Given the description of an element on the screen output the (x, y) to click on. 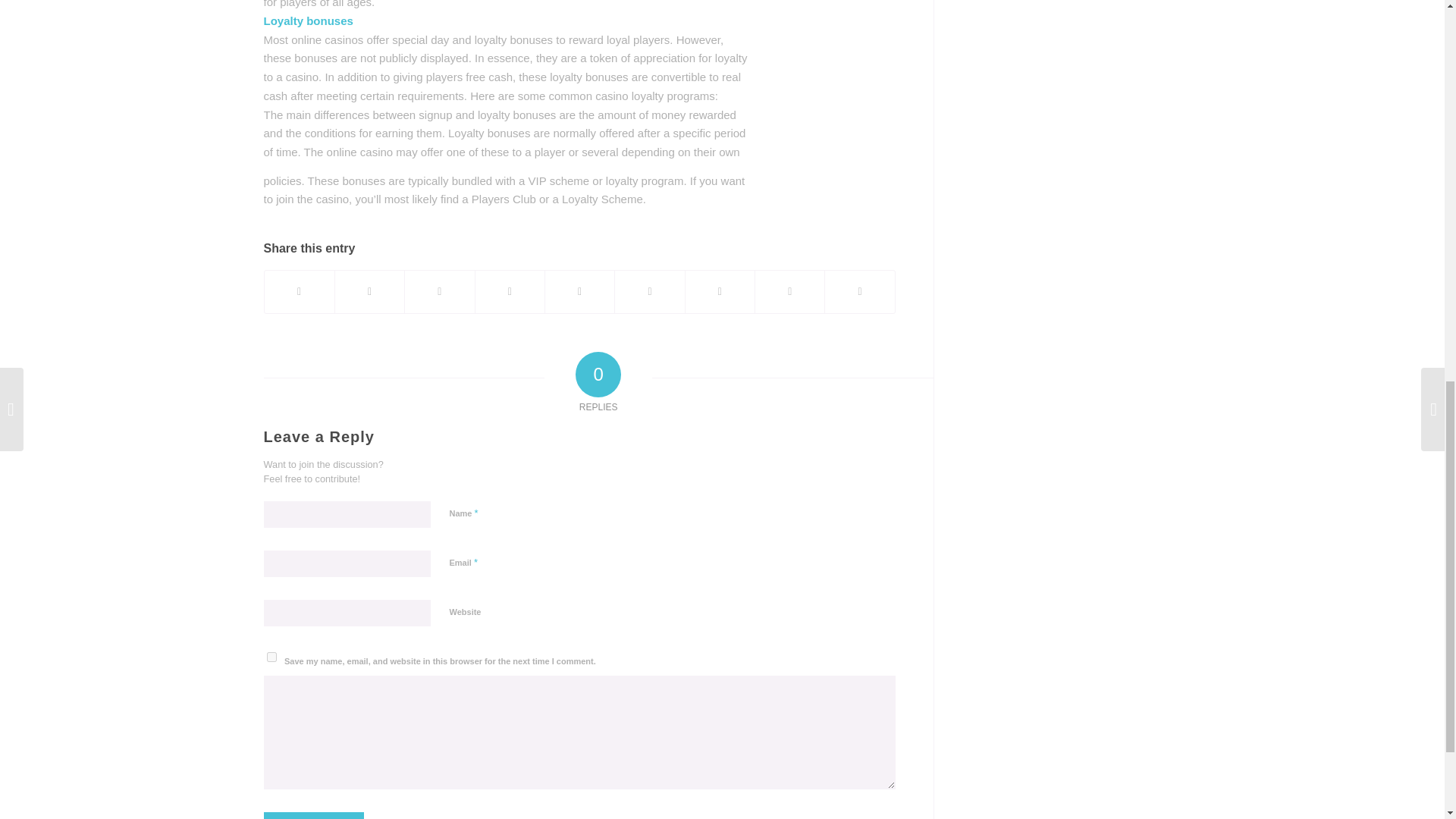
yes (271, 656)
Post Comment (313, 815)
Post Comment (313, 815)
